Given the description of an element on the screen output the (x, y) to click on. 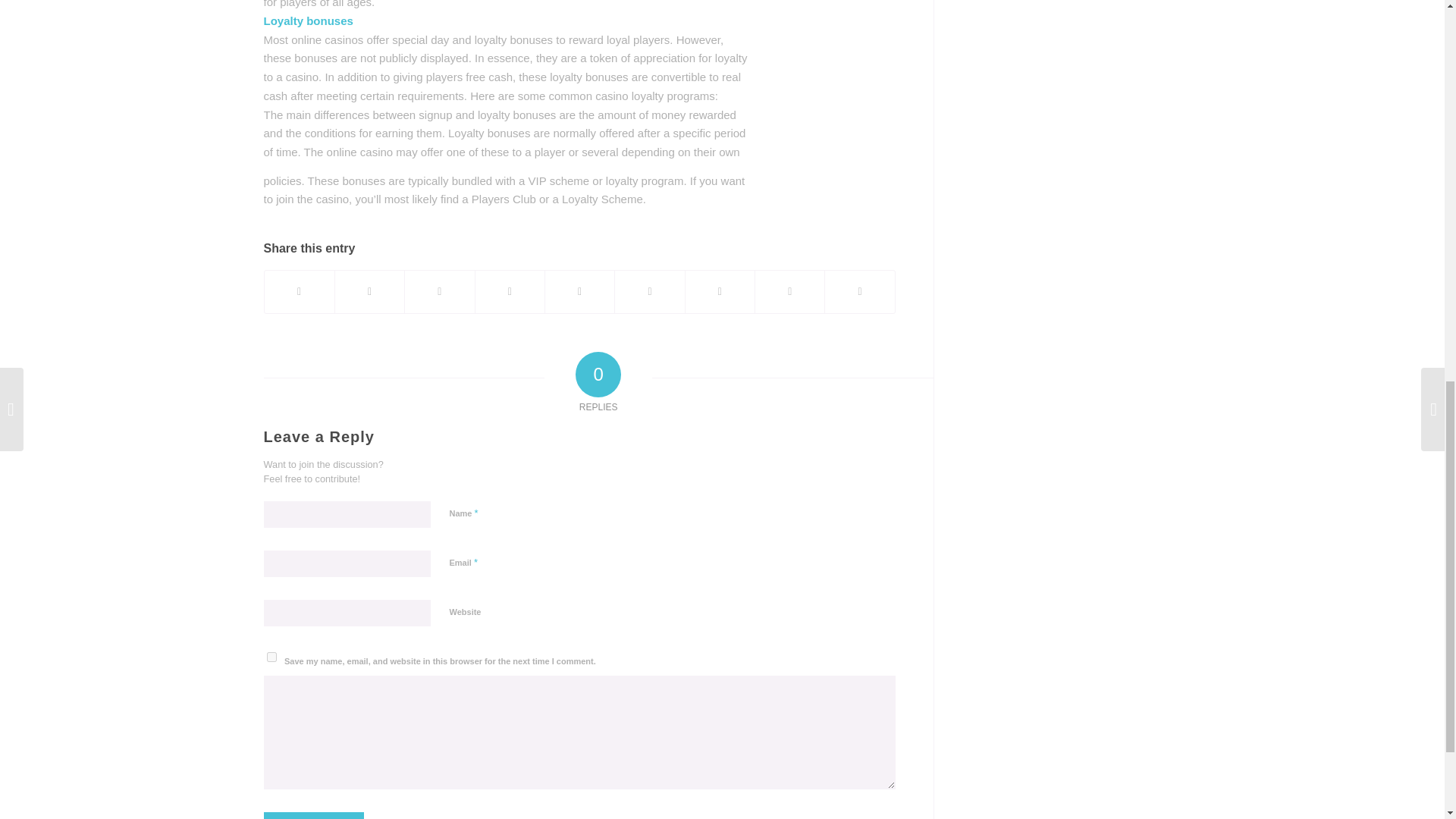
yes (271, 656)
Post Comment (313, 815)
Post Comment (313, 815)
